Given the description of an element on the screen output the (x, y) to click on. 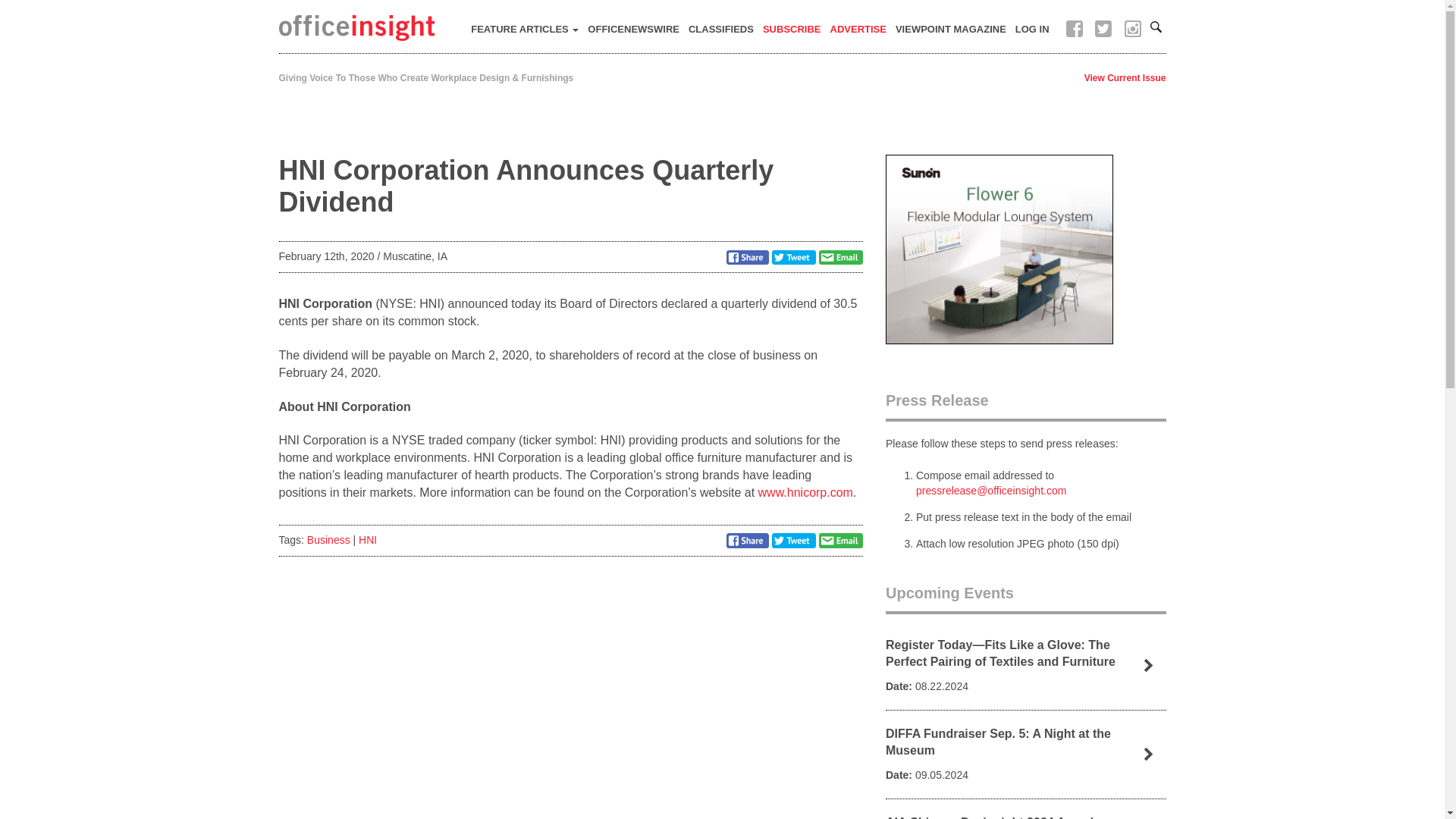
officenewswire (633, 29)
CLASSIFIEDS (721, 29)
Subscribe (791, 29)
Classifieds (721, 29)
FEATURE ARTICLES (524, 29)
Feature Articles (524, 29)
viewpoint Magazine (950, 29)
SUBSCRIBE (791, 29)
